Given the description of an element on the screen output the (x, y) to click on. 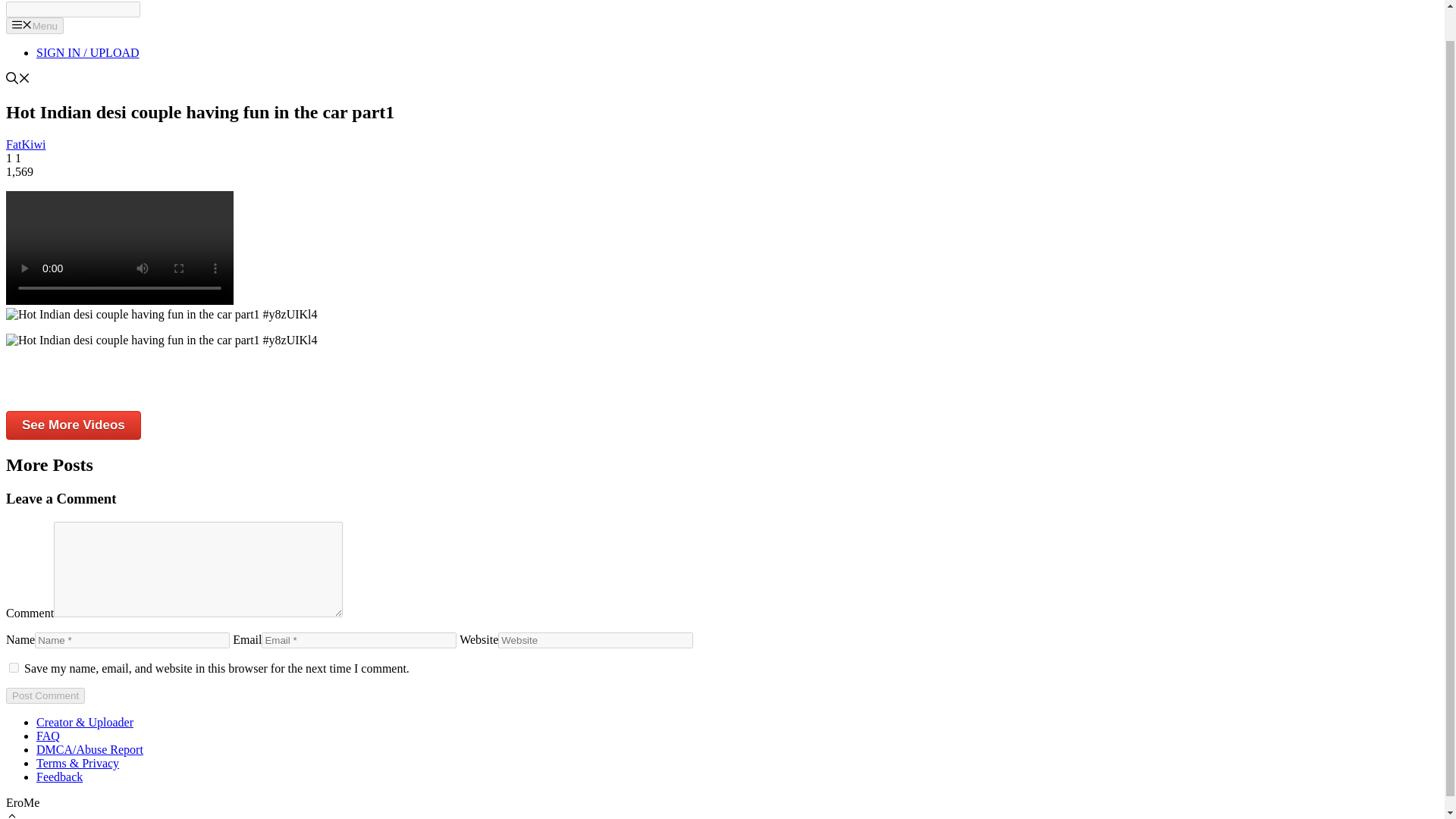
FAQ (47, 735)
y8zuikl4 (161, 314)
EroMe (27, 0)
yes (13, 667)
FatKiwi (25, 144)
dfmi9iex-1 (118, 247)
See More Videos (73, 425)
FatKiwi (25, 144)
Search (72, 9)
Post Comment (44, 695)
EroMe (27, 0)
Feedback (59, 776)
y8zuikl4 (161, 340)
Post Comment (44, 695)
Menu (34, 25)
